Given the description of an element on the screen output the (x, y) to click on. 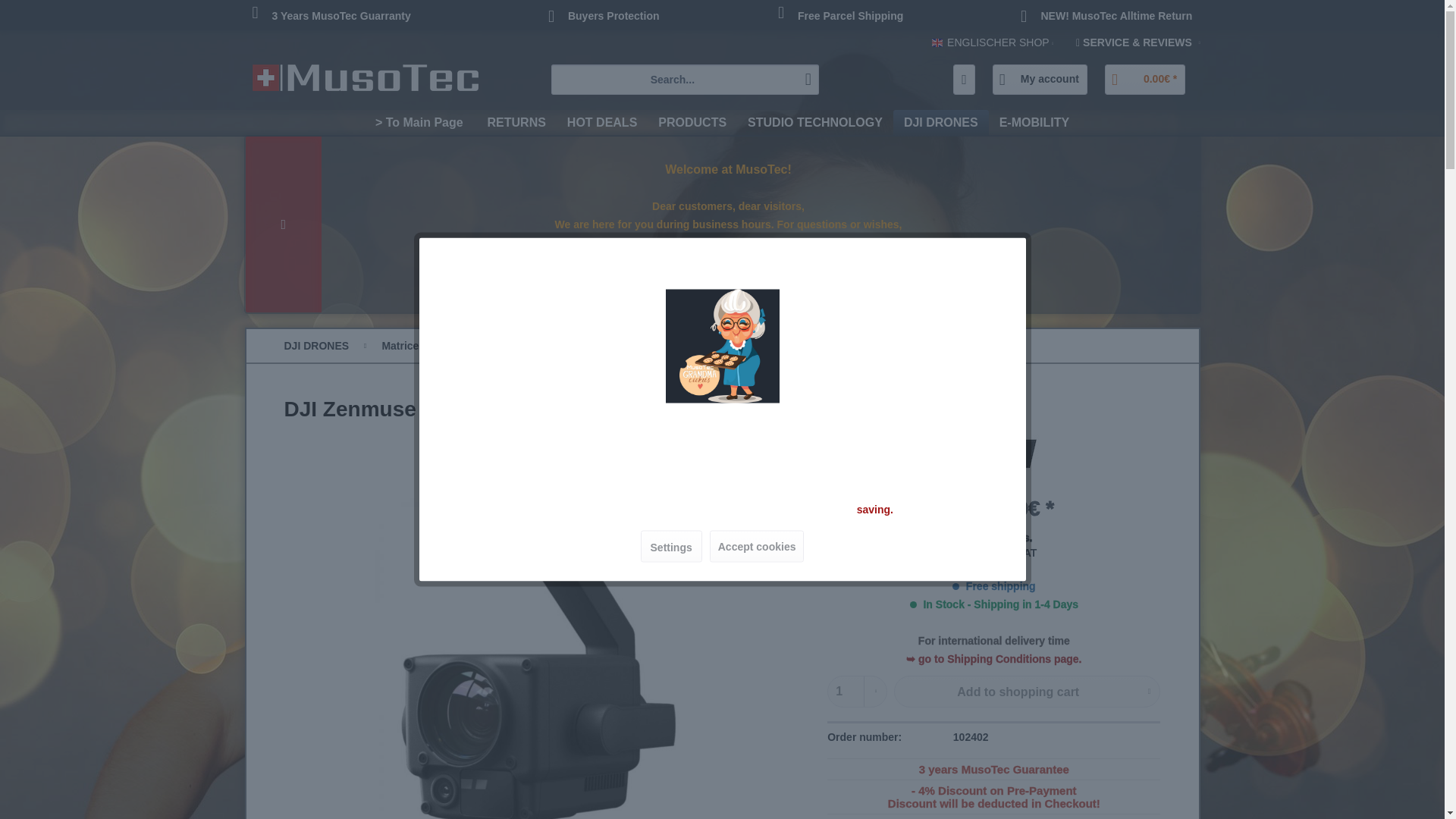
HOT DEALS (601, 122)
My account (1039, 79)
DJI DRONES (940, 122)
E-MOBILITY (1034, 122)
DJI DRONES (940, 122)
My account (1039, 79)
STUDIO TECHNOLOGY (814, 122)
HOT DEALS (601, 122)
PRODUCTS (691, 122)
RETURNS (516, 122)
PRODUCTS (691, 122)
RETURNS (516, 122)
MUSOTEC DEUTSCHLAND - Switch to homepage (364, 83)
E-MOBILITY (1034, 122)
STUDIO TECHNOLOGY (814, 122)
